Given the description of an element on the screen output the (x, y) to click on. 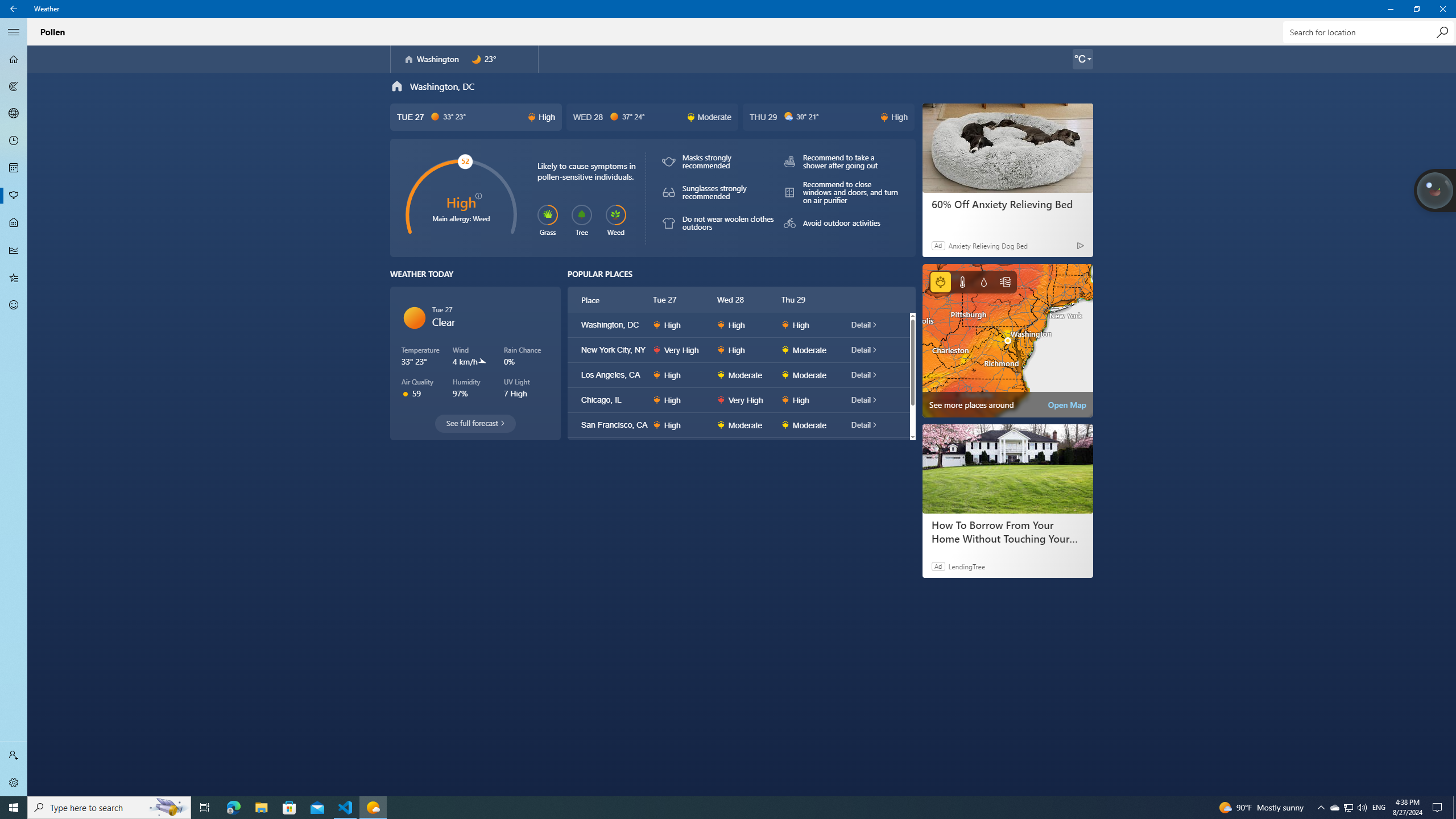
Search for location (1367, 32)
Life - Not Selected (13, 222)
Historical Weather - Not Selected (13, 249)
Maps - Not Selected (13, 85)
Favorites - Not Selected (13, 277)
Life - Not Selected (13, 222)
Monthly Forecast - Not Selected (13, 167)
Running applications (706, 807)
Monthly Forecast - Not Selected (13, 167)
Minimize Weather (1390, 9)
